Given the description of an element on the screen output the (x, y) to click on. 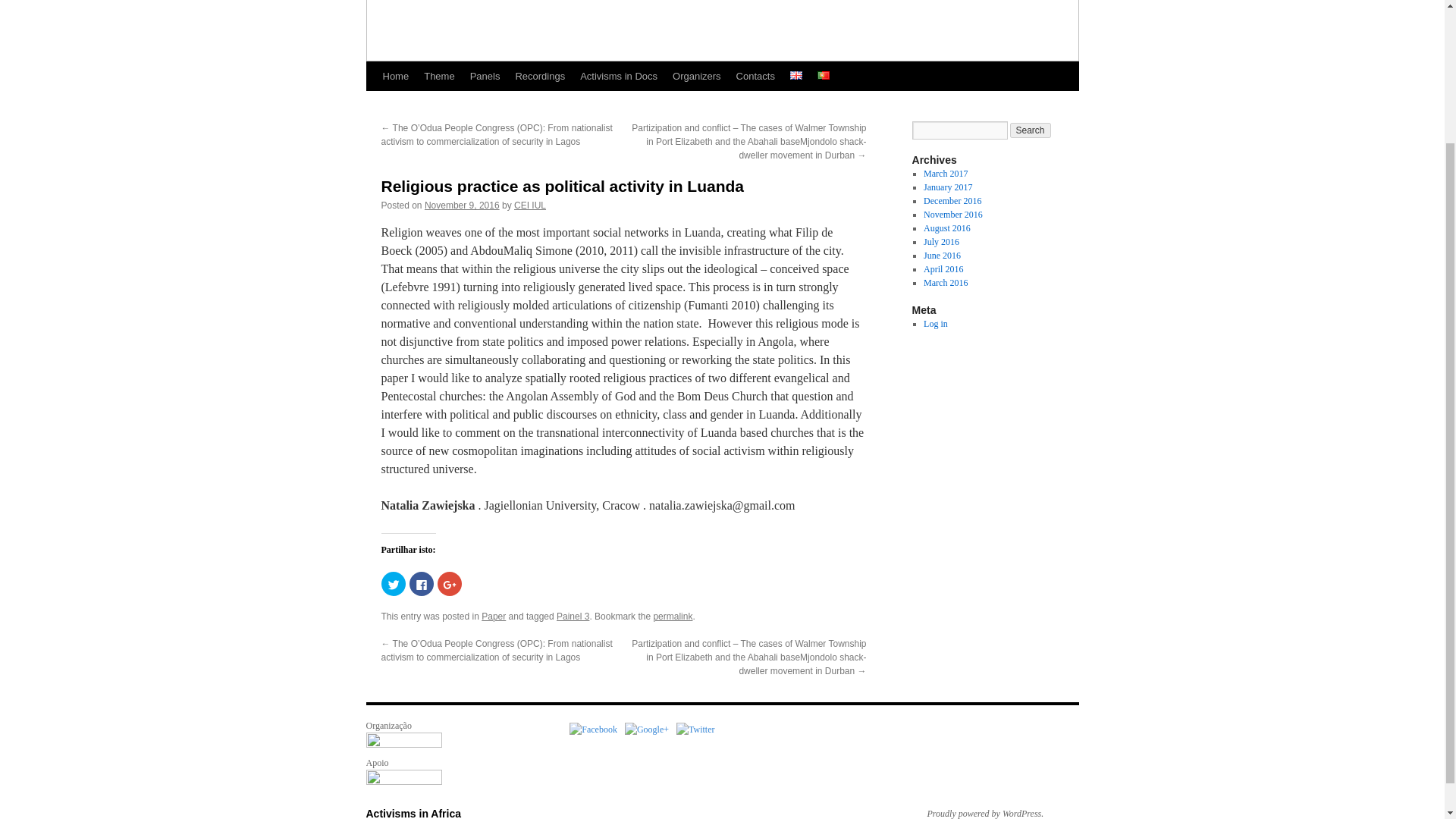
 Facebook (593, 729)
Click to share on Twitter (392, 583)
Theme (438, 76)
June 2016 (941, 255)
Home (395, 76)
Click to share on Facebook (421, 583)
Search (1030, 130)
Search (1030, 130)
Recordings (539, 76)
Activisms in Docs (618, 76)
